Given the description of an element on the screen output the (x, y) to click on. 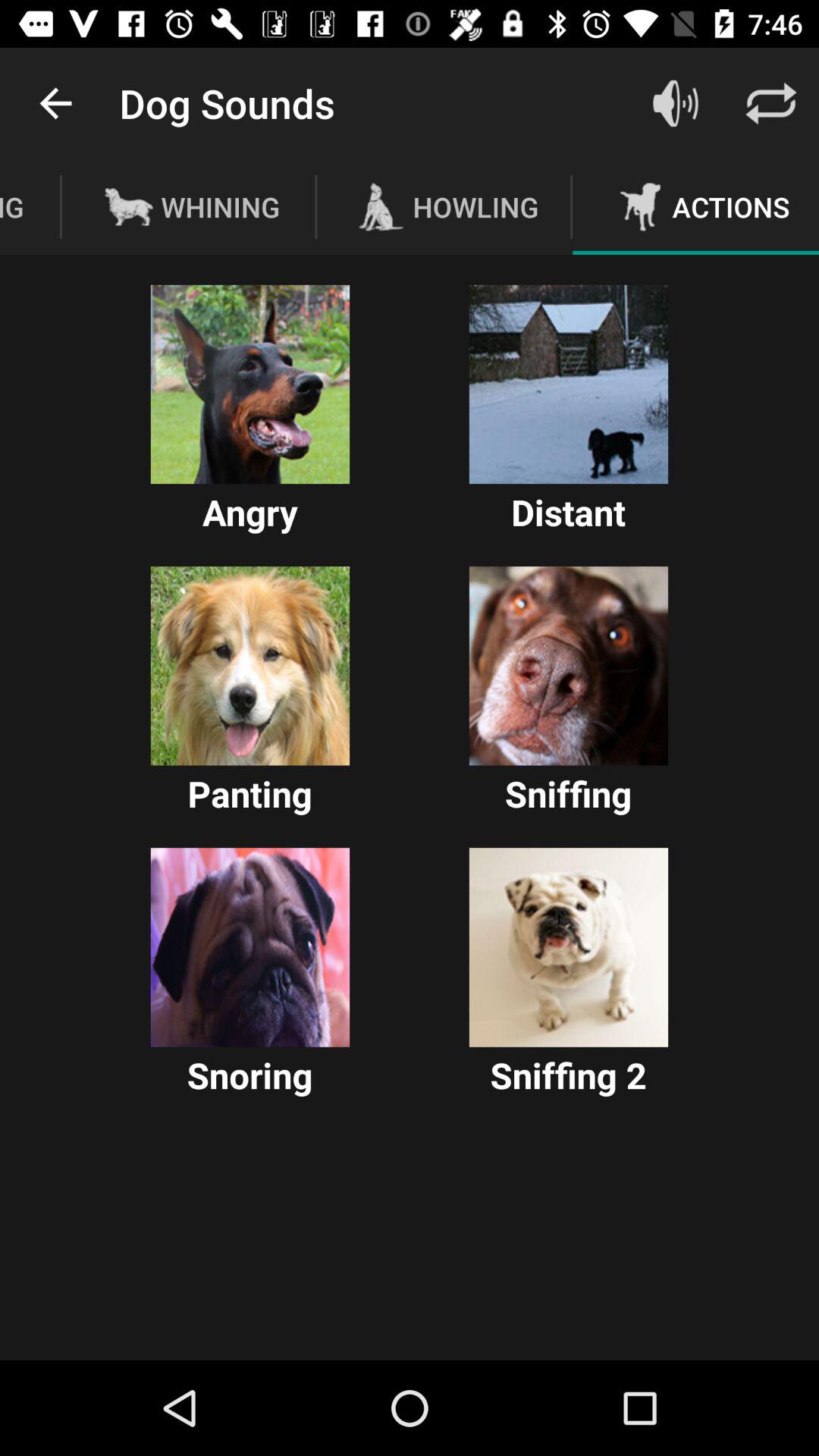
volume (675, 103)
